Given the description of an element on the screen output the (x, y) to click on. 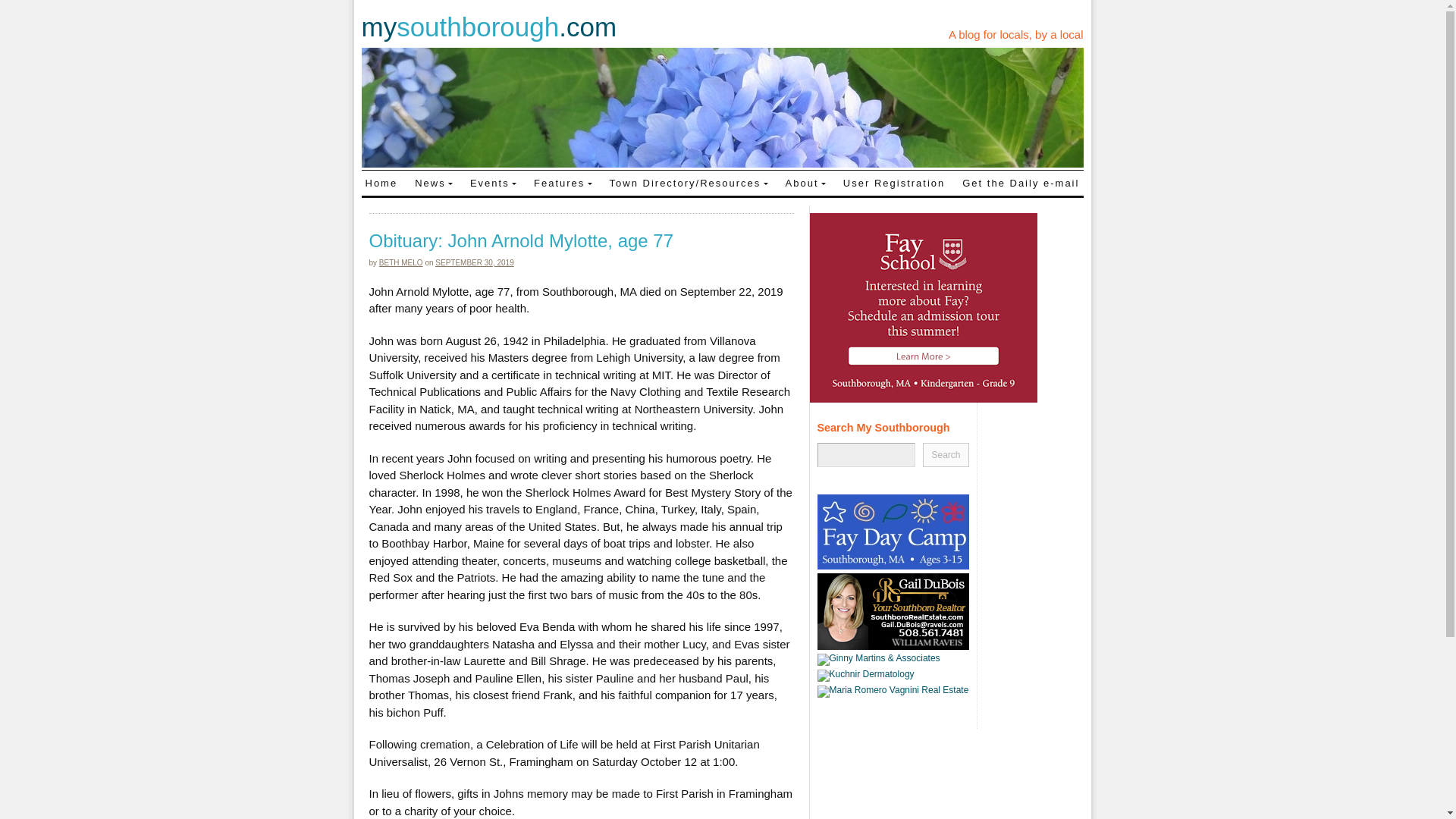
A blog for locals, by a local (1016, 33)
mysouthborough.com (488, 26)
Home (381, 182)
News (433, 182)
Events (492, 182)
Features (562, 182)
Home (381, 182)
News (433, 182)
